Given the description of an element on the screen output the (x, y) to click on. 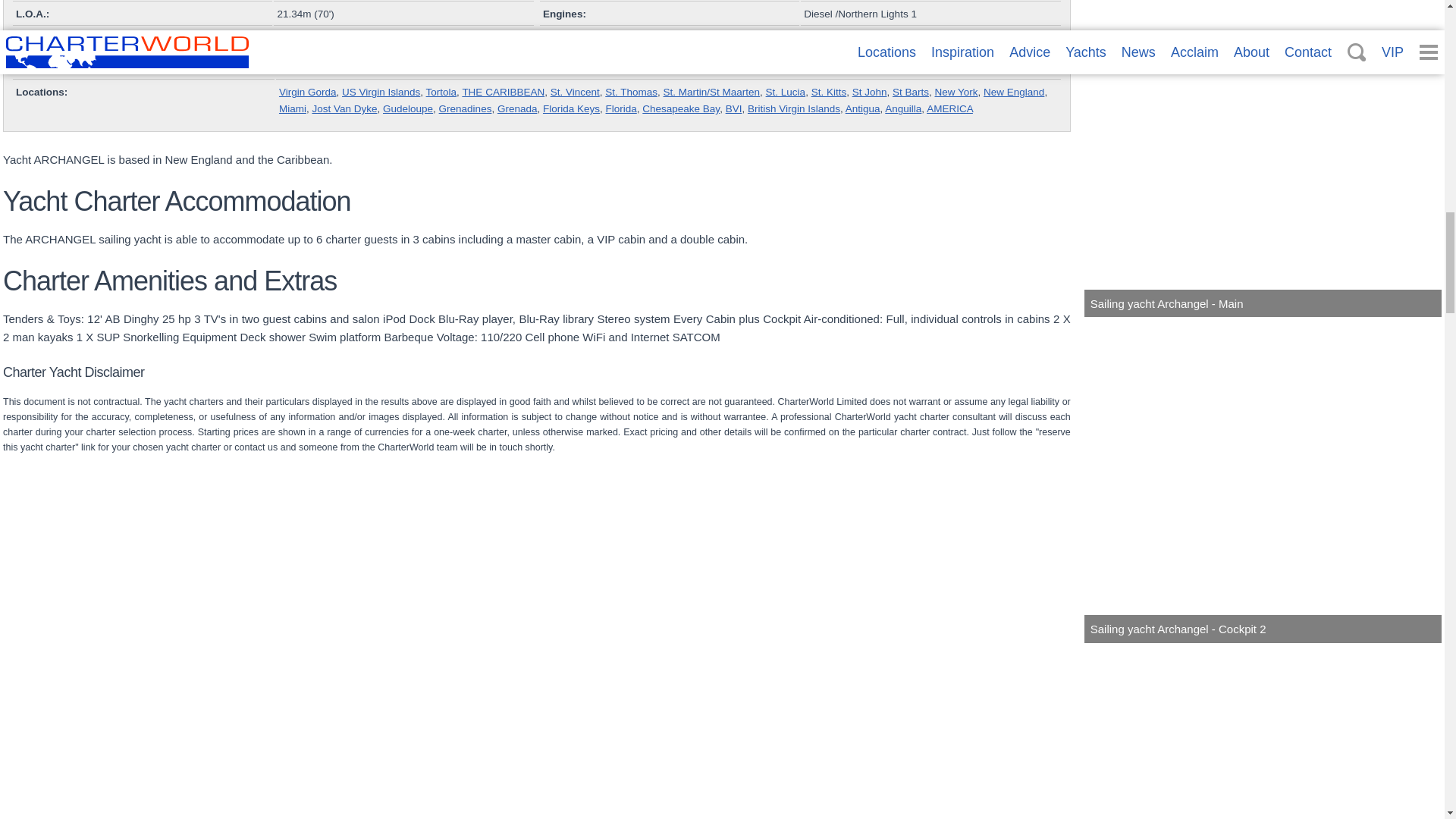
Virgin Gorda (307, 91)
St Barts (910, 91)
Sailing yacht Archangel -  Cockpit 2 (1262, 481)
Sailing yacht Archangel -  Main (1262, 158)
New England (1013, 91)
St John (868, 91)
Sailing yacht Archangel -  Salon looking Aft (541, 732)
Frers (290, 67)
Tortola (441, 91)
St. Kitts (828, 91)
Sailing yacht Archangel -  Salon Dining (1262, 732)
US Virgin Islands (381, 91)
THE CARIBBEAN (502, 91)
Sailing yacht Archangel -  Double Helms (180, 732)
St. Vincent (574, 91)
